Given the description of an element on the screen output the (x, y) to click on. 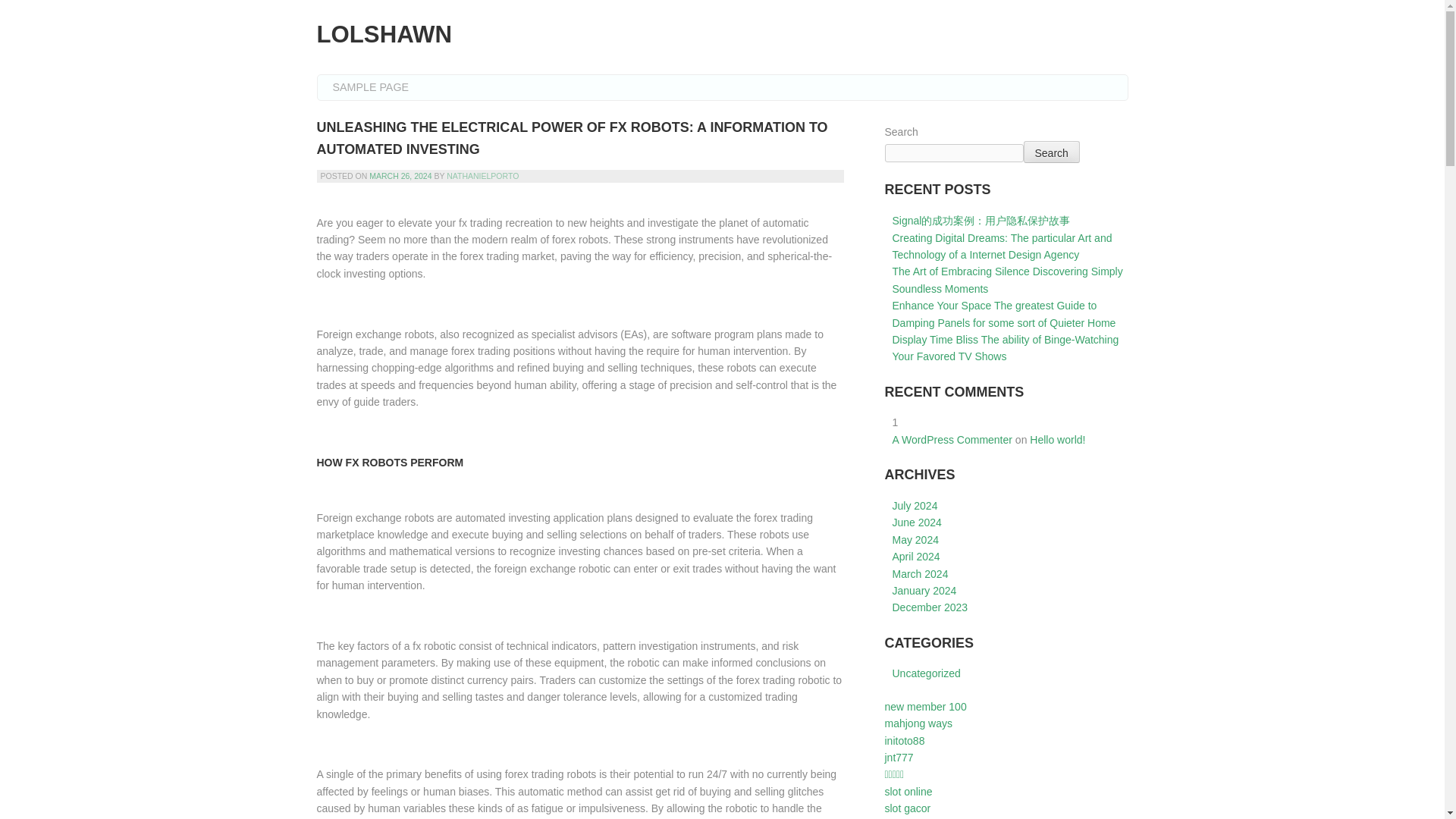
MARCH 26, 2024 (399, 175)
May 2024 (914, 539)
Hello world! (1056, 439)
Uncategorized (925, 673)
July 2024 (914, 505)
mahjong ways (917, 723)
January 2024 (923, 590)
December 2023 (929, 607)
jnt777 (897, 757)
April 2024 (915, 556)
new member 100 (924, 706)
March 2024 (919, 573)
